Given the description of an element on the screen output the (x, y) to click on. 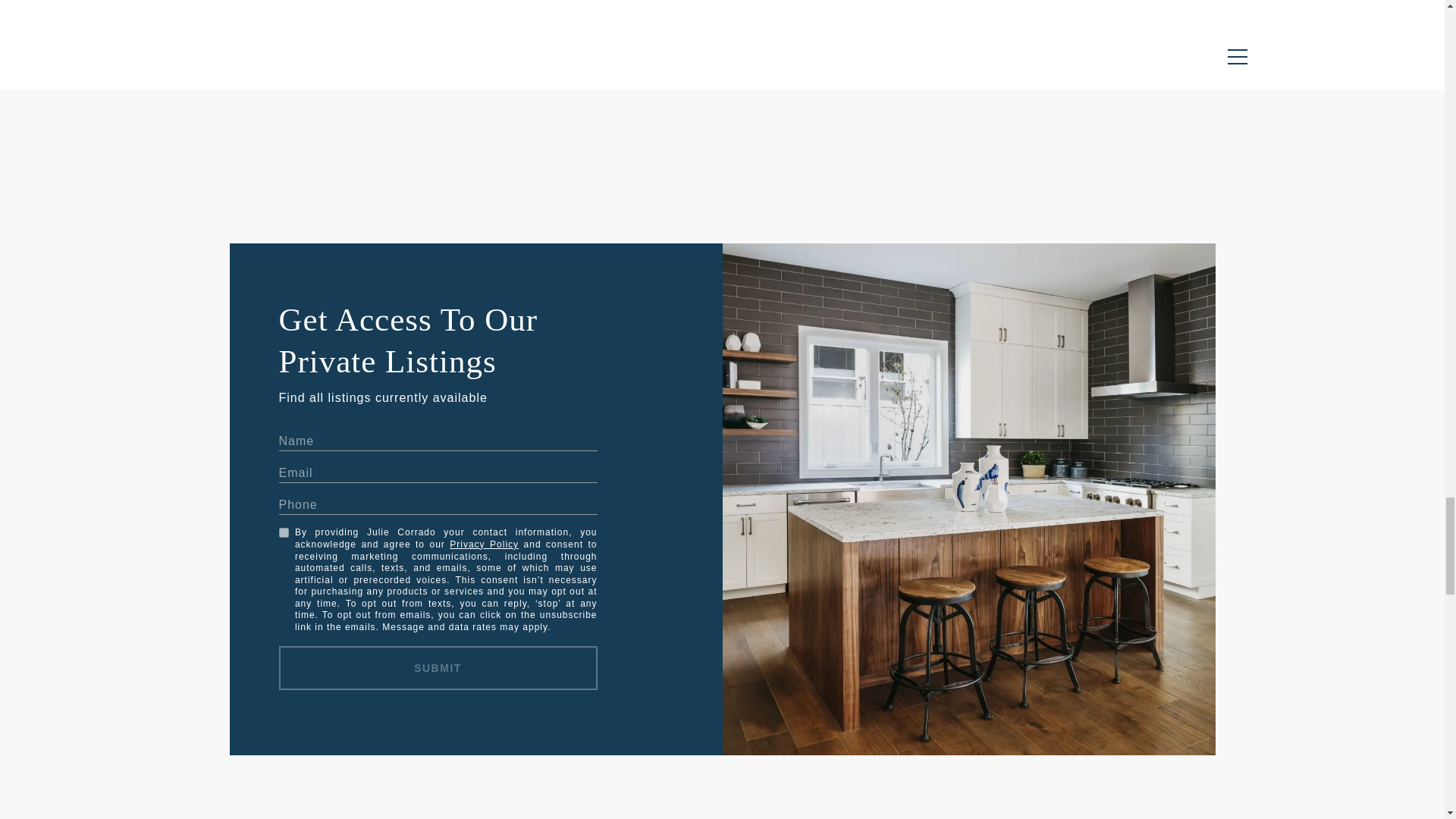
on (283, 532)
